Given the description of an element on the screen output the (x, y) to click on. 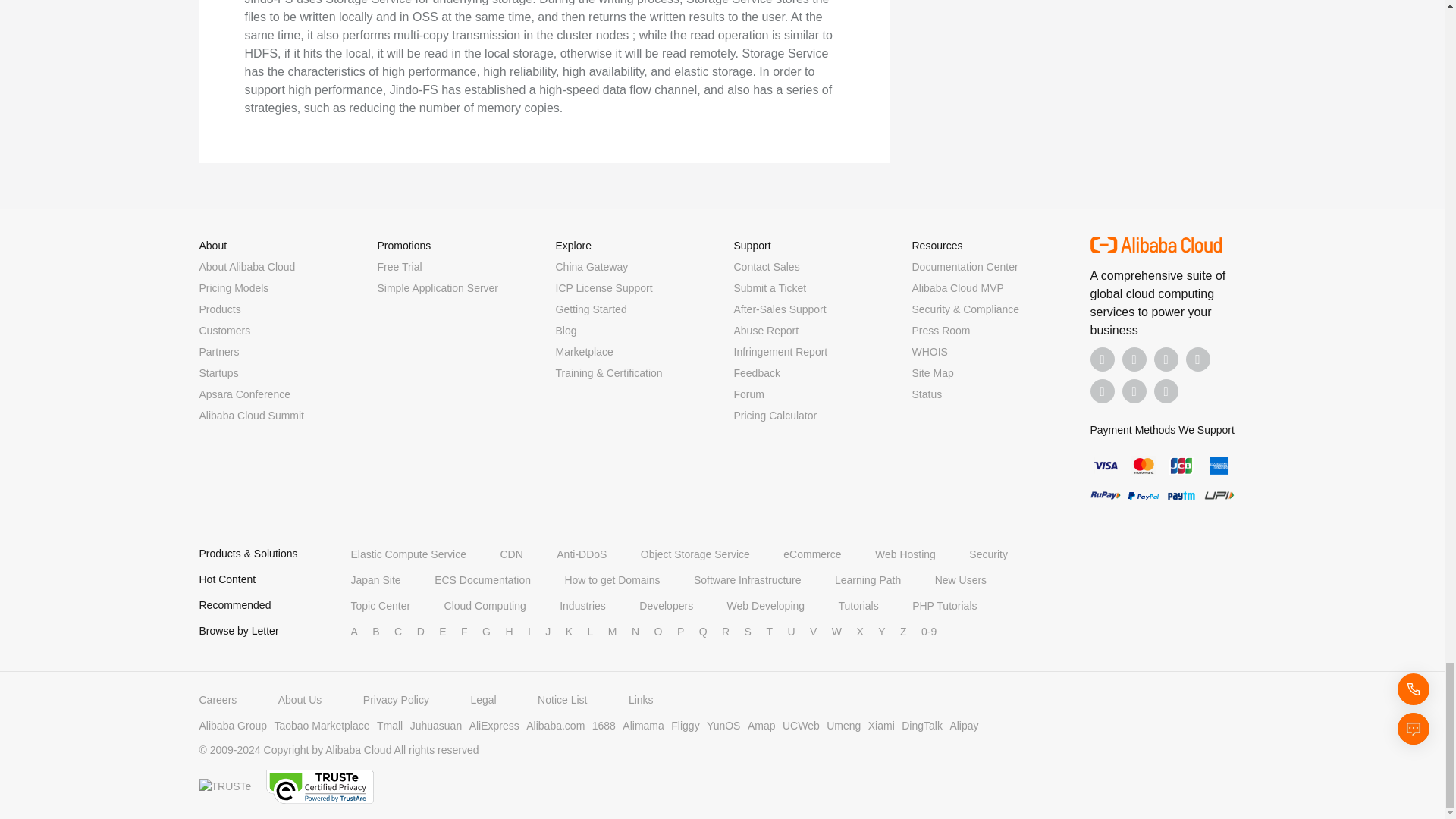
Linkedin (1134, 359)
Twitter (1165, 359)
Call Us Now (1165, 391)
YouTube (1197, 359)
TikTok (1102, 391)
Facebook (1102, 359)
